Given the description of an element on the screen output the (x, y) to click on. 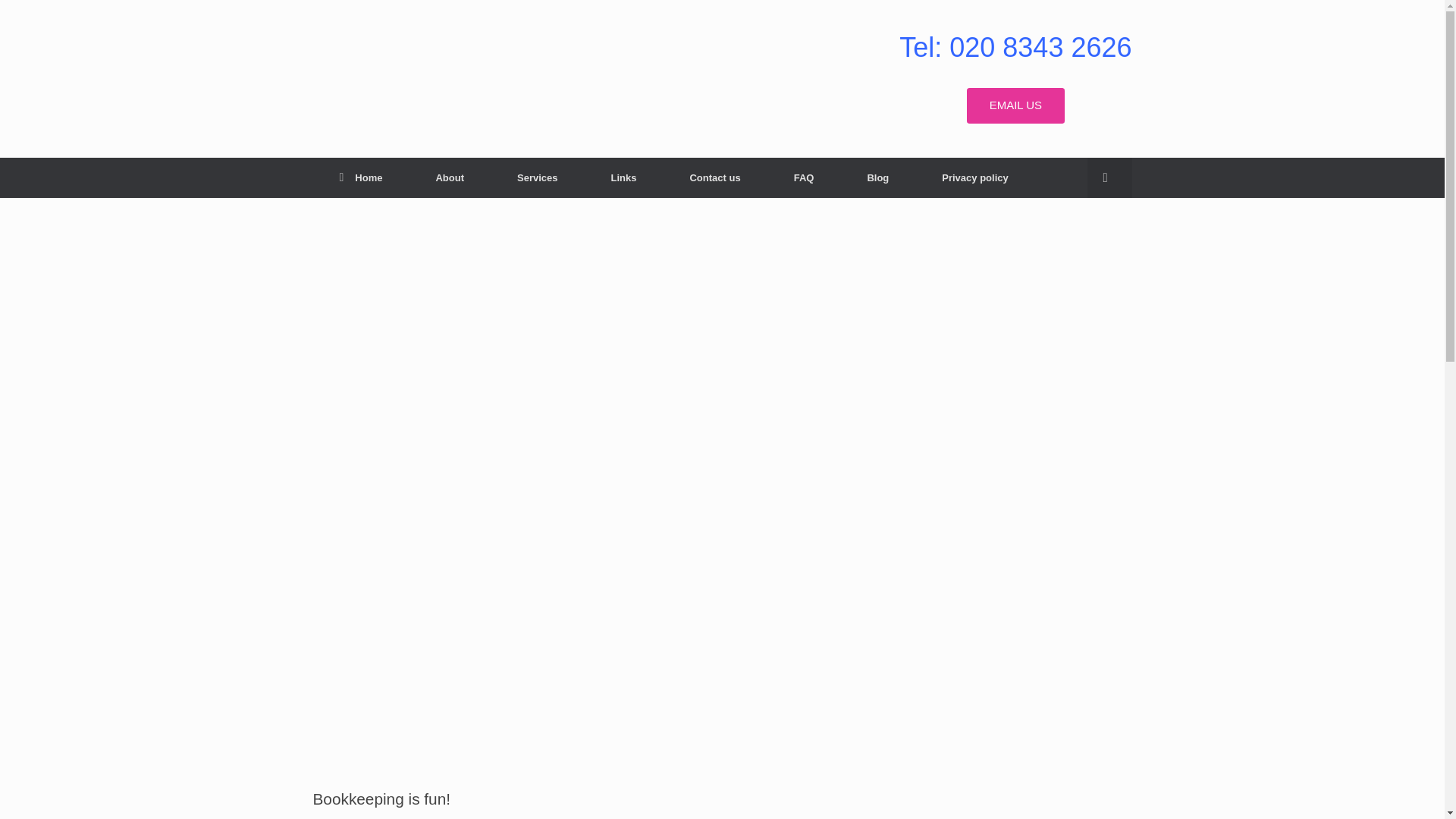
Alexander Ene (520, 73)
FAQ (804, 178)
Home (361, 178)
About (449, 178)
Contact us (714, 178)
Services (537, 178)
Blog (877, 178)
EMAIL US (1015, 105)
Links (624, 178)
Privacy policy (974, 178)
